Given the description of an element on the screen output the (x, y) to click on. 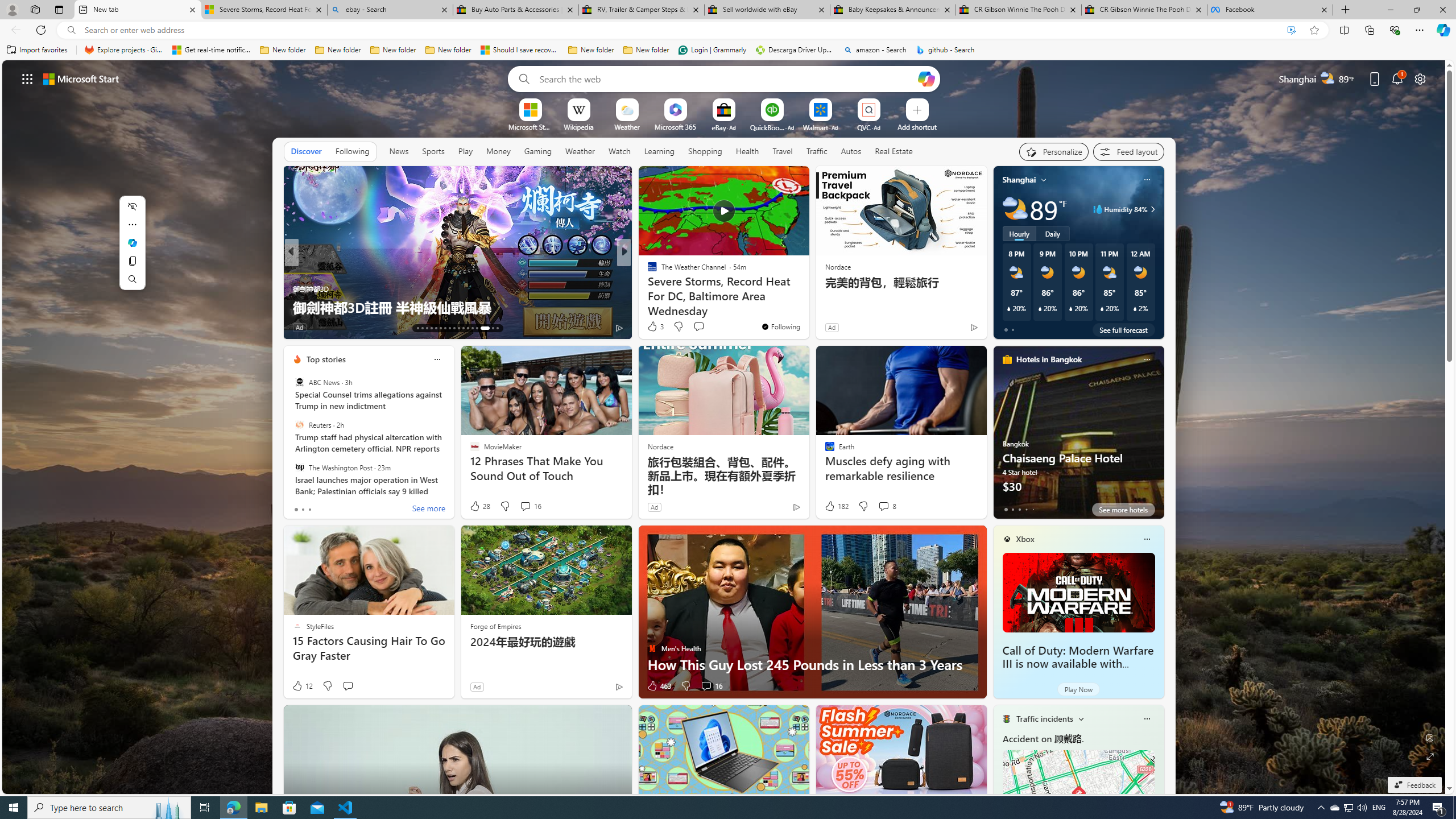
amazon - Search (875, 49)
Watch (619, 151)
Edit Background (1430, 737)
Hide this story (774, 179)
Browser essentials (1394, 29)
Enter your search term (726, 78)
Humidity 84% (1150, 208)
12 Like (301, 685)
AutomationID: tab-17 (435, 328)
Dailymotion (647, 288)
Feedback (1414, 784)
hotels-header-icon (1006, 358)
